Given the description of an element on the screen output the (x, y) to click on. 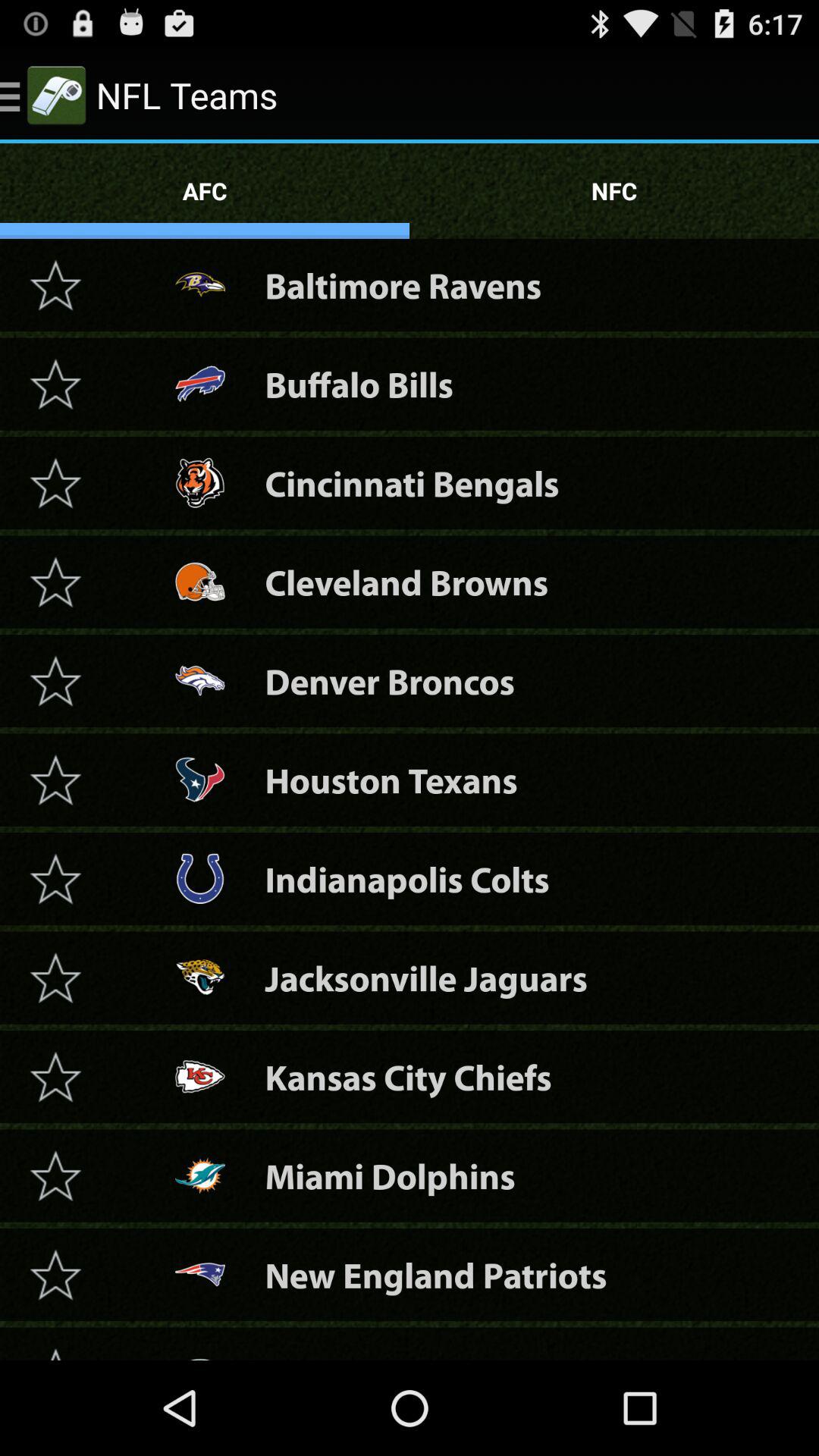
turn on miami dolphins app (390, 1175)
